Given the description of an element on the screen output the (x, y) to click on. 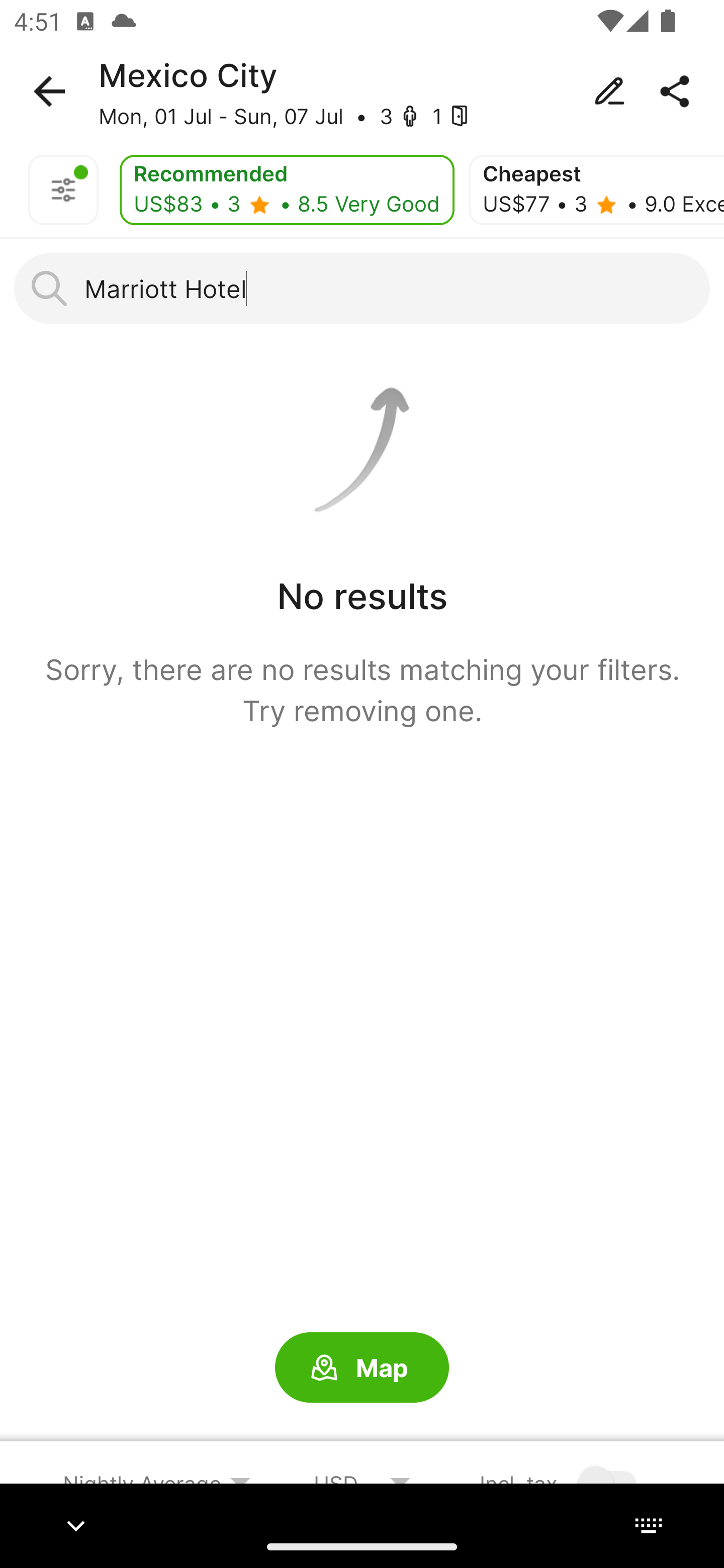
Mexico City Mon, 01 Jul - Sun, 07 Jul  •  3 -  1 - (361, 91)
Recommended  US$83  • 3 - • 8.5 Very Good (286, 190)
Cheapest US$77  • 3 - • 9.0 Excellent (596, 190)
Marriott Hotel (361, 288)
Map  (361, 1367)
